Given the description of an element on the screen output the (x, y) to click on. 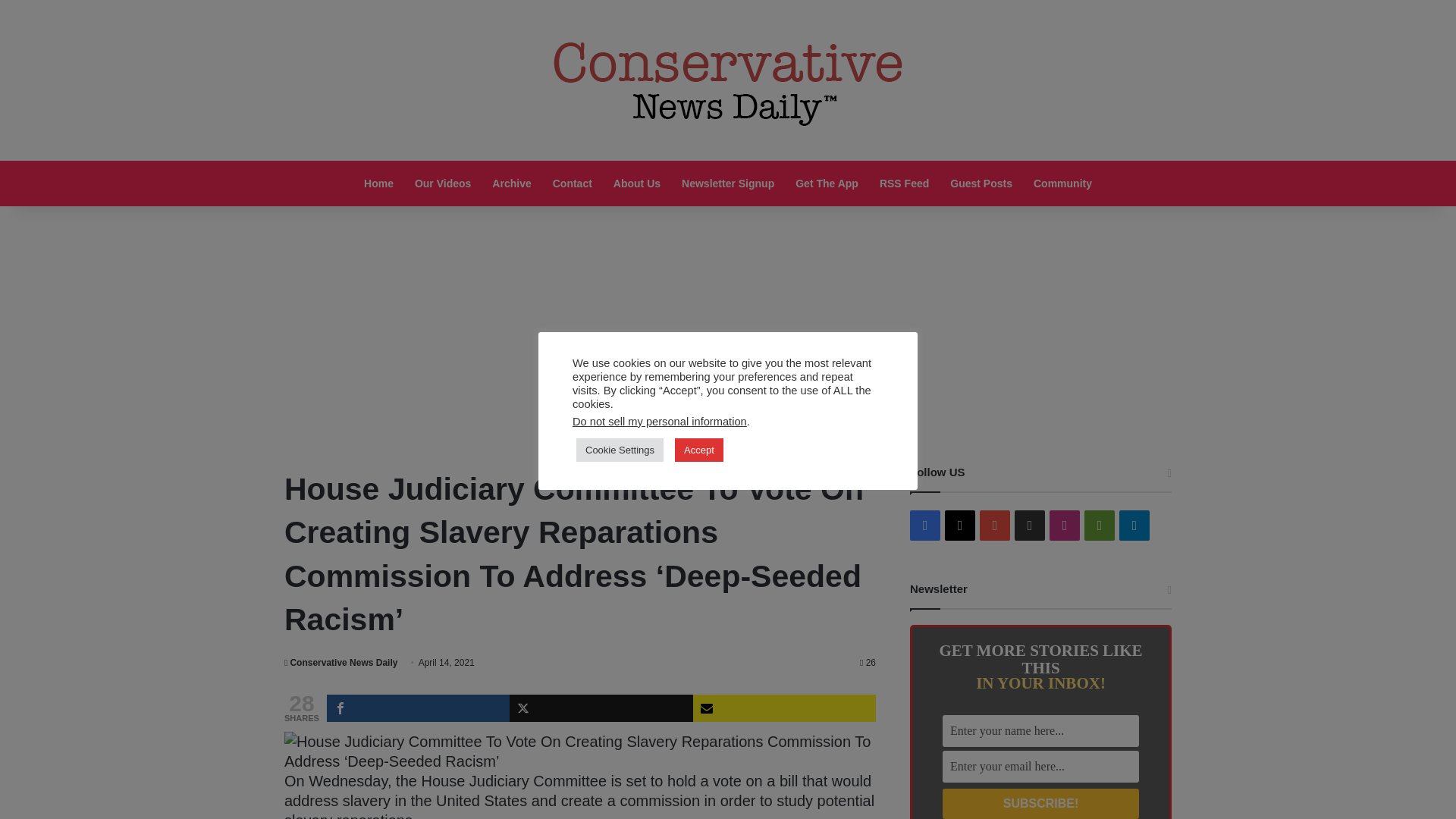
Community (1062, 183)
About Us (636, 183)
RSS Feed (904, 183)
Twitter (601, 707)
Subscribe (784, 707)
Newsletter Signup (727, 183)
Conservative News Daily (340, 662)
Archive (511, 183)
Get The App (826, 183)
Conservative News Daily (340, 662)
Contact (571, 183)
Guest Posts (981, 183)
Our Videos (442, 183)
Home (378, 183)
